Given the description of an element on the screen output the (x, y) to click on. 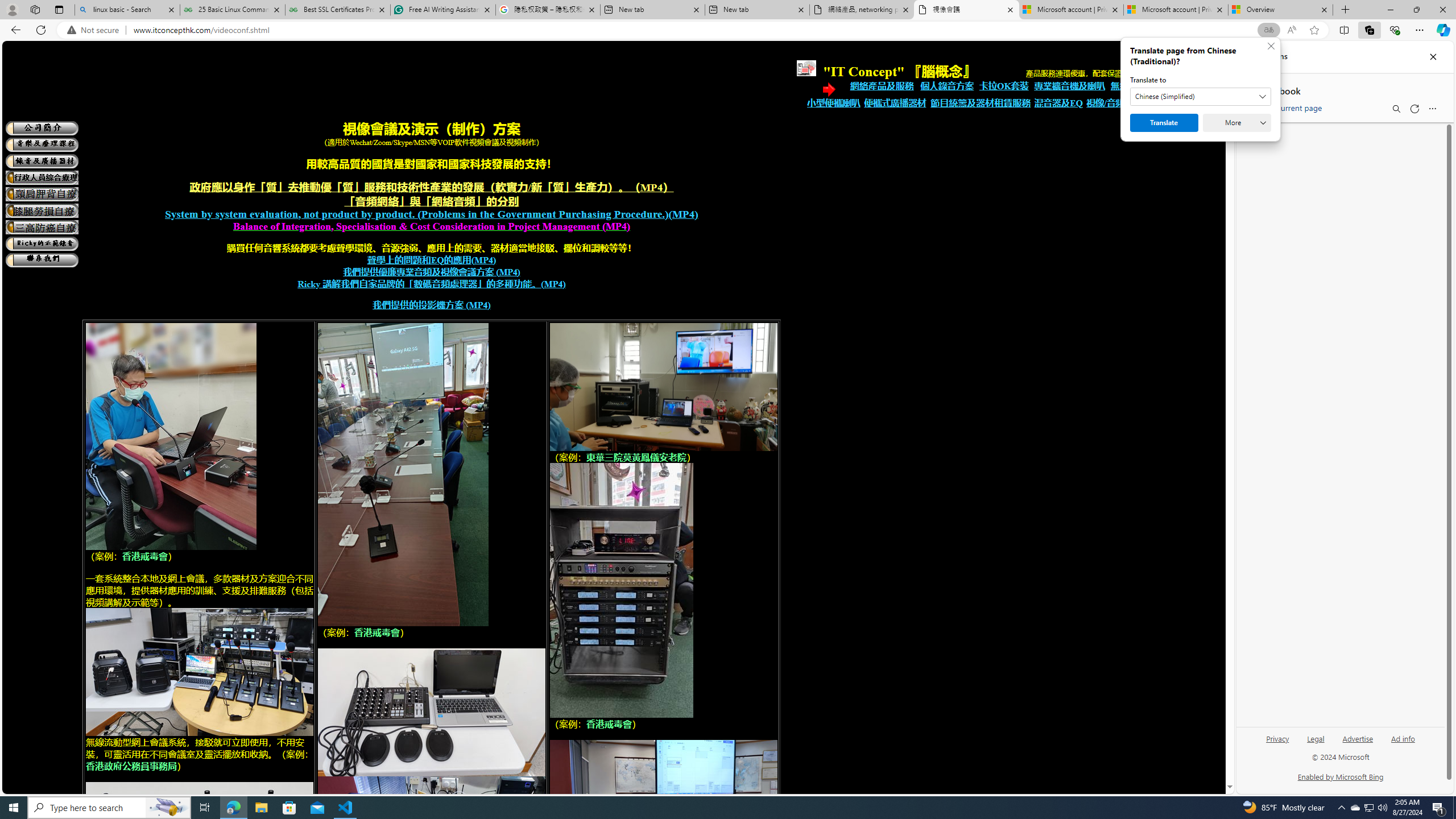
Overview (1280, 9)
Back to list of collections (1250, 90)
Best SSL Certificates Provider in India - GeeksforGeeks (337, 9)
More options menu (1432, 108)
online meeting, zoom meeting, (199, 671)
Free AI Writing Assistance for Students | Grammarly (442, 9)
